Given the description of an element on the screen output the (x, y) to click on. 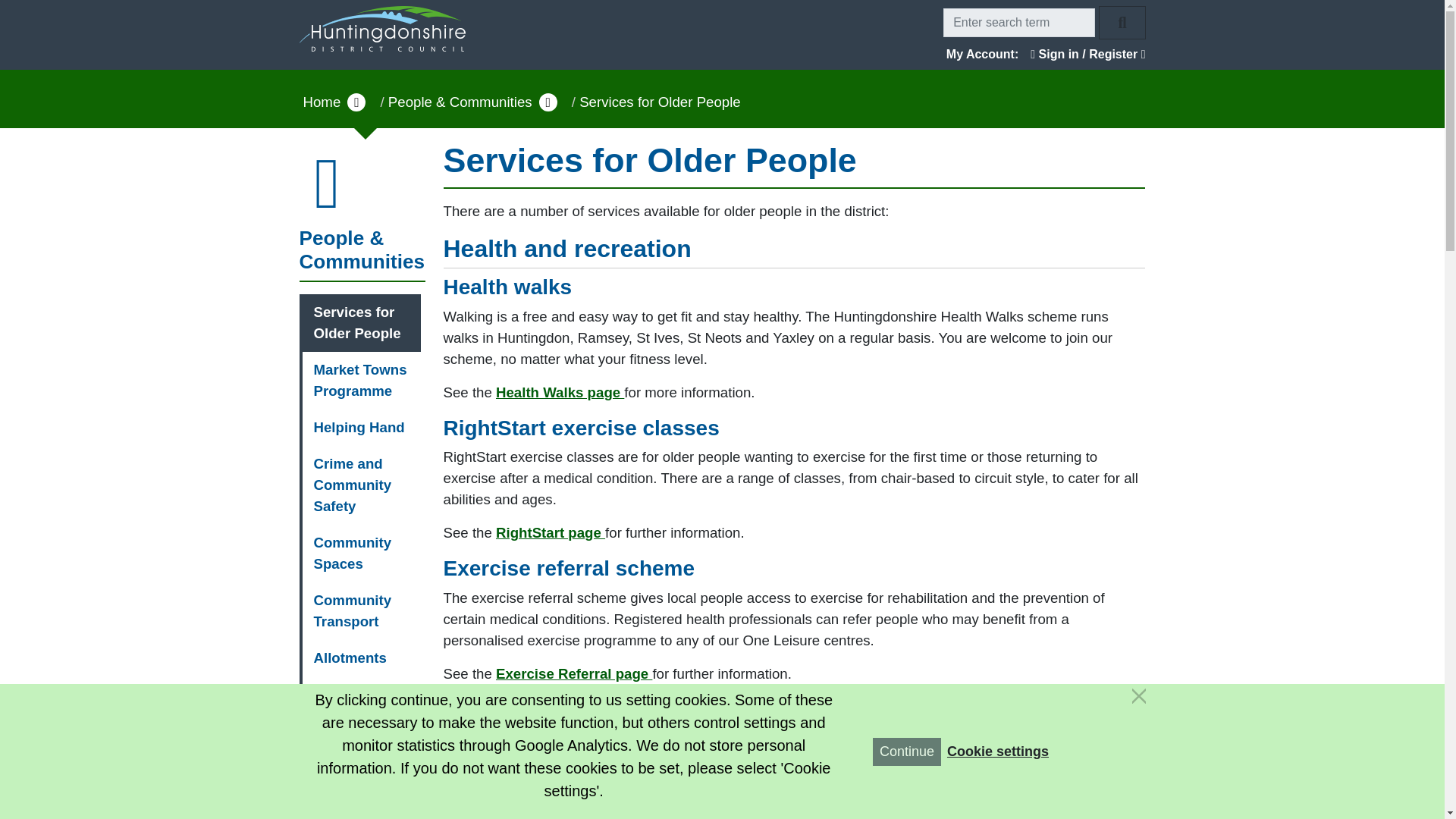
Search Here (1018, 22)
Header Navigation (721, 22)
Go to Allotments (360, 657)
Go to Support for Migrants, Refugees and Asylum Seekers (360, 736)
Go to Food Bank and Community Fridge Appeal (360, 808)
Go to Helping Hand (360, 427)
Go to Services for Older People (360, 323)
Go to Crime and Community Safety (360, 484)
Go to Market Towns Programme (360, 380)
Go to Community Spaces (360, 553)
Go to Community Transport (360, 610)
